Given the description of an element on the screen output the (x, y) to click on. 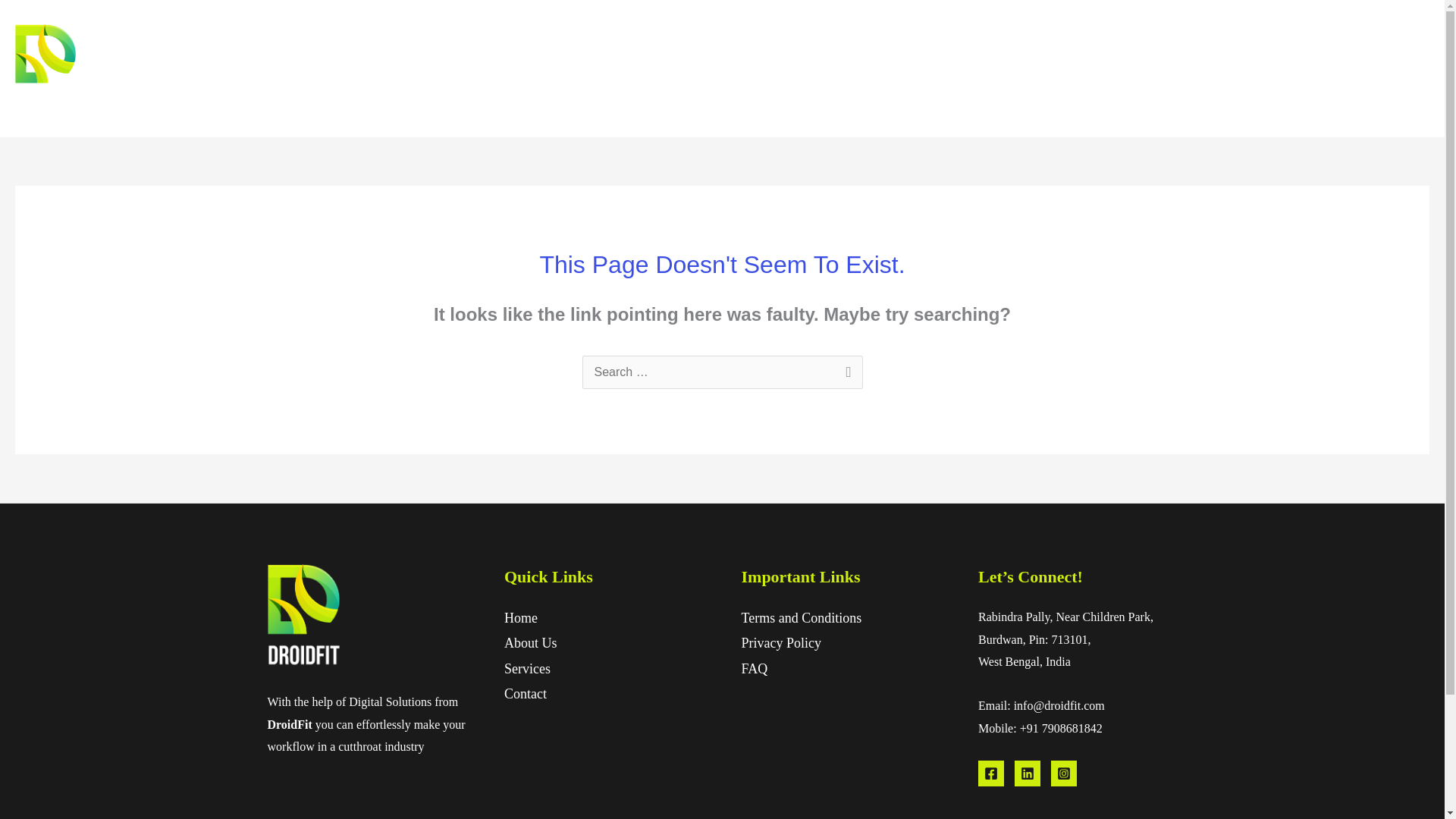
Services (1327, 68)
Home (520, 617)
Contact (1395, 68)
Services (526, 668)
About Us (1255, 68)
Terms and Conditions (801, 617)
Home (1189, 68)
Contact (525, 693)
FAQ (754, 668)
About Us (530, 642)
